Given the description of an element on the screen output the (x, y) to click on. 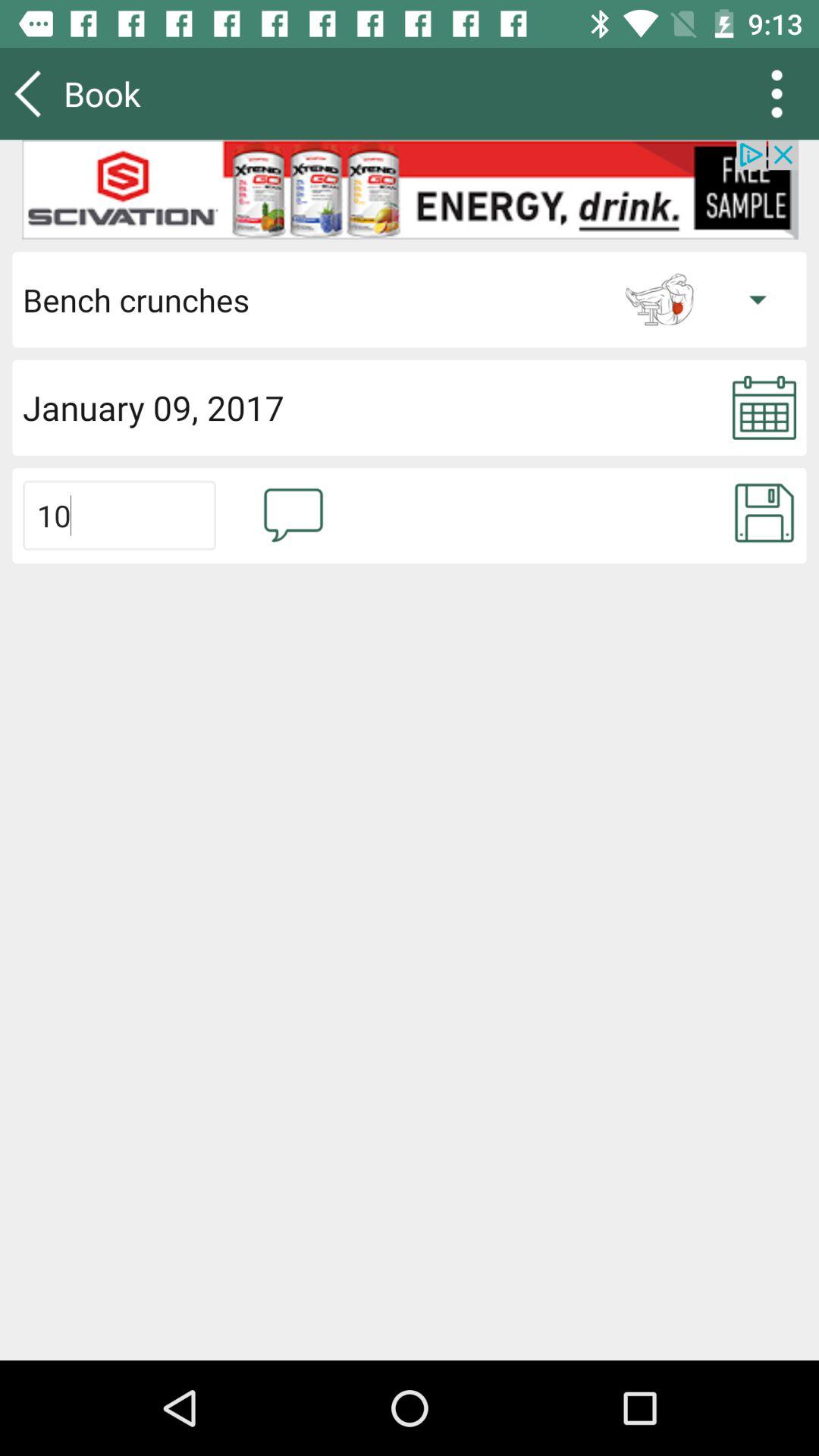
go to advertisement option (409, 189)
